Given the description of an element on the screen output the (x, y) to click on. 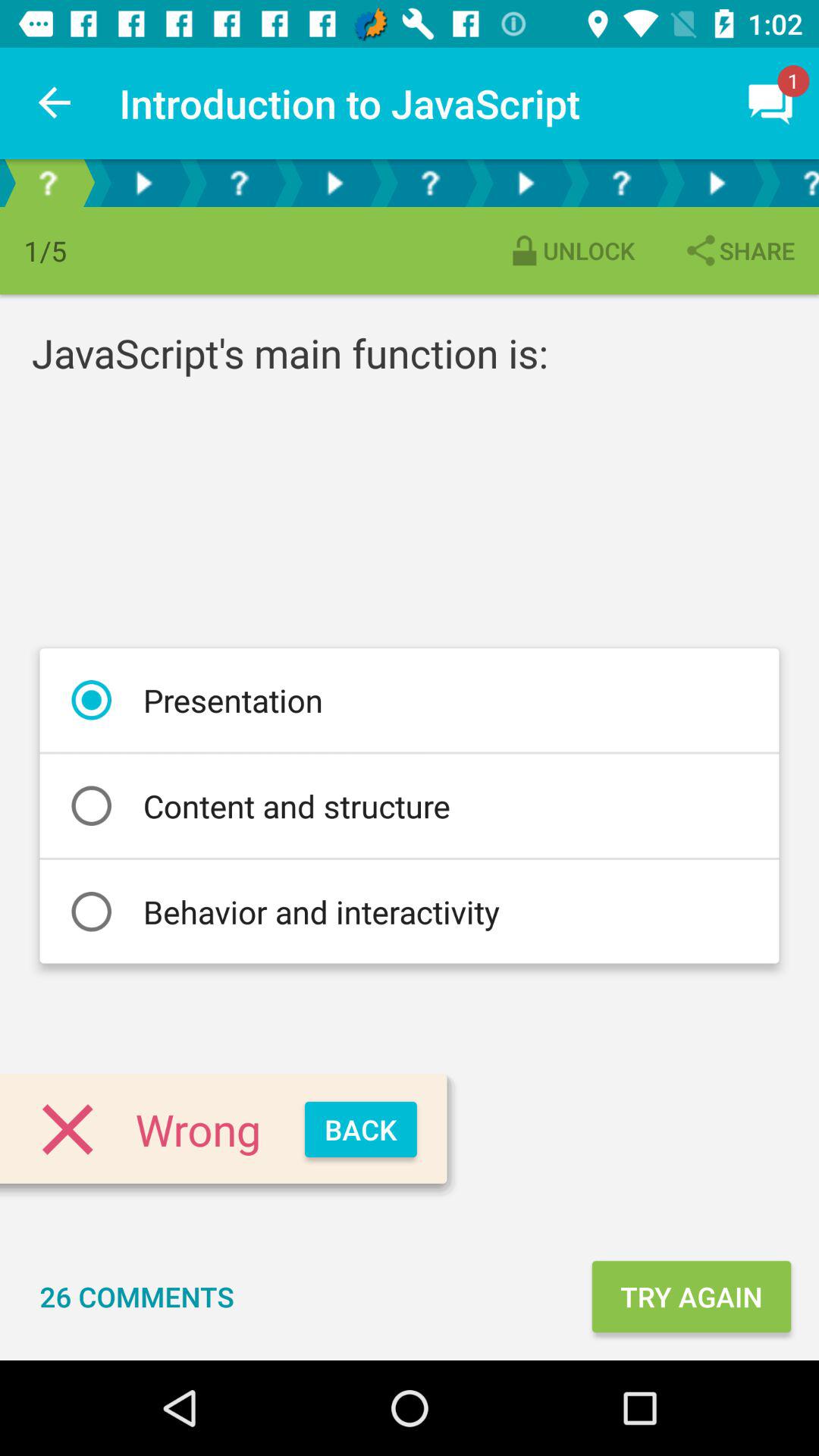
go to question (791, 183)
